Given the description of an element on the screen output the (x, y) to click on. 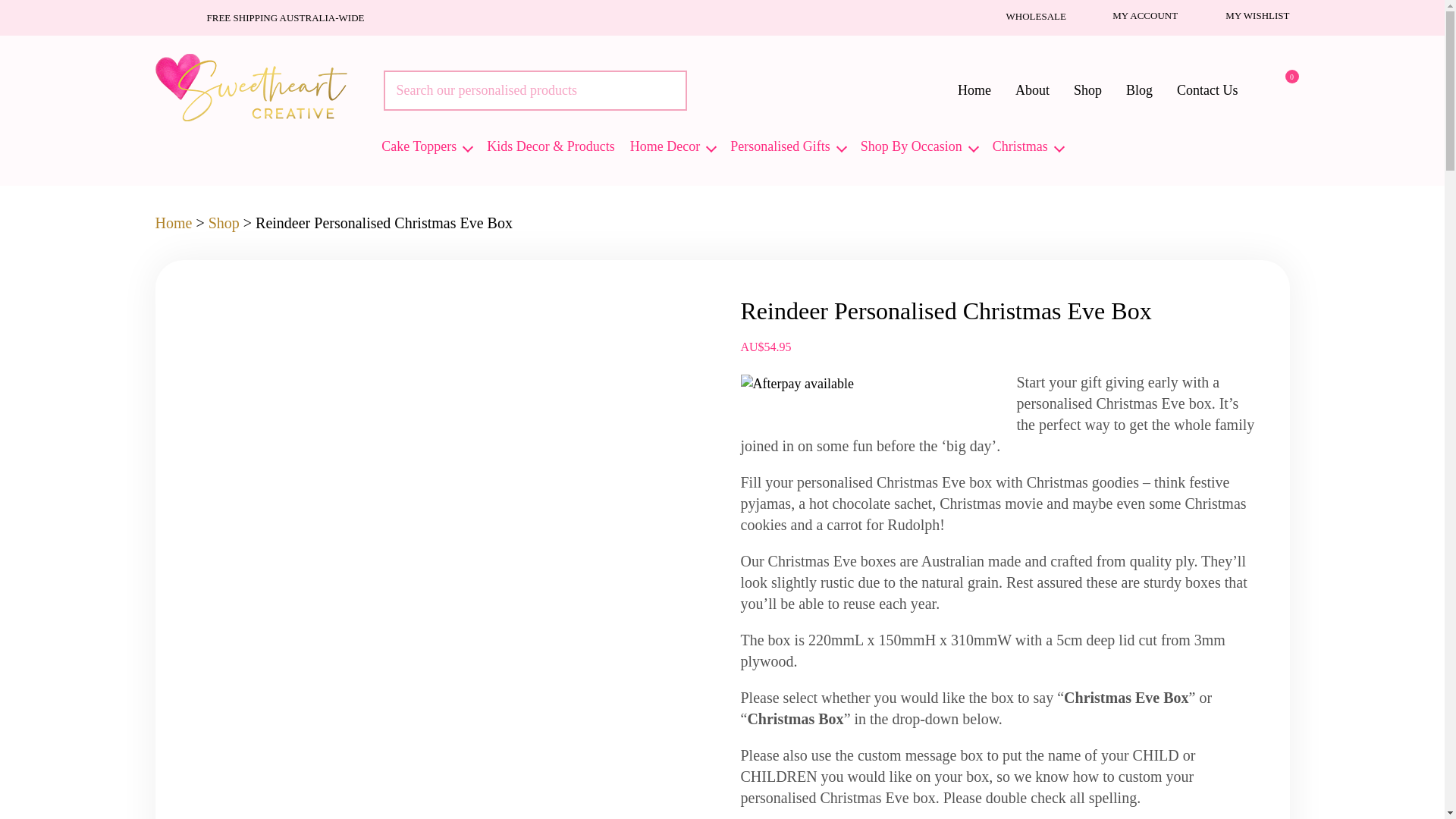
About (1032, 90)
WHOLESALE (1021, 15)
Contact Us (1207, 90)
Blog (1138, 90)
MY ACCOUNT (1132, 15)
Shop (1087, 90)
Home (973, 90)
MY WISHLIST (1243, 15)
